Given the description of an element on the screen output the (x, y) to click on. 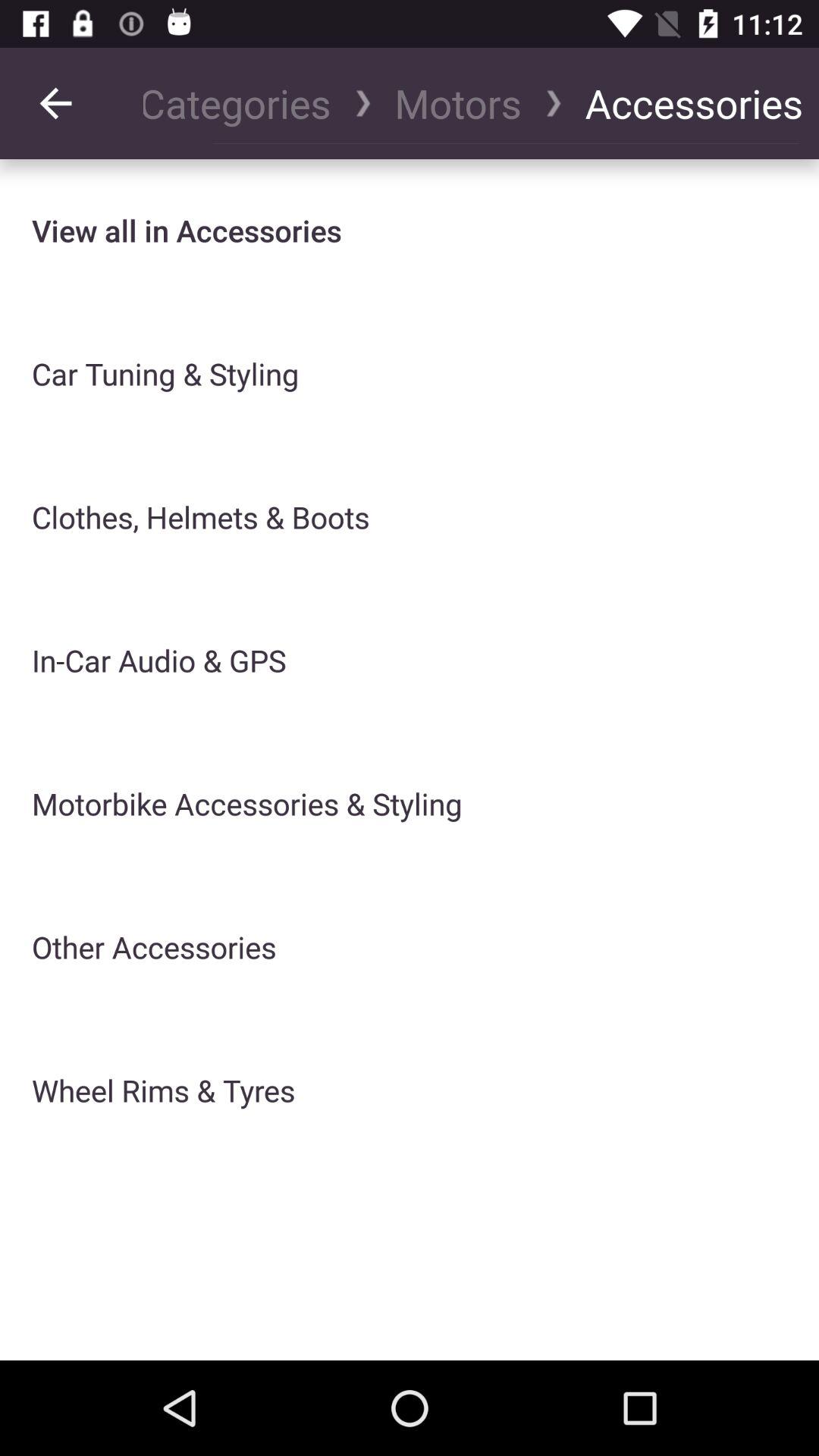
scroll to the clothes, helmets & boots item (200, 517)
